Given the description of an element on the screen output the (x, y) to click on. 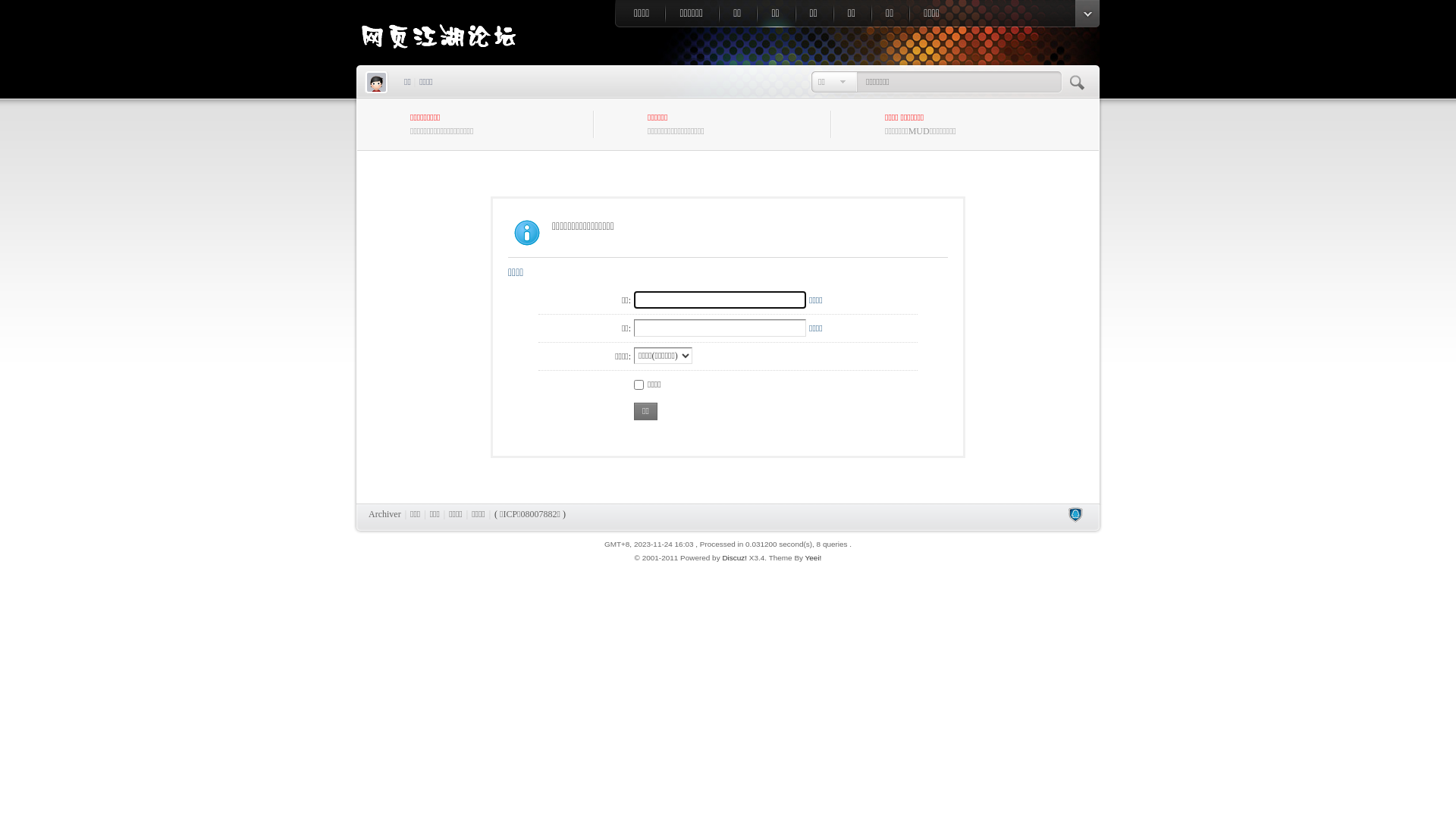
Yeei! Element type: text (813, 557)
true Element type: text (1079, 81)
Archiver Element type: text (384, 513)
Discuz! Element type: text (733, 557)
